Given the description of an element on the screen output the (x, y) to click on. 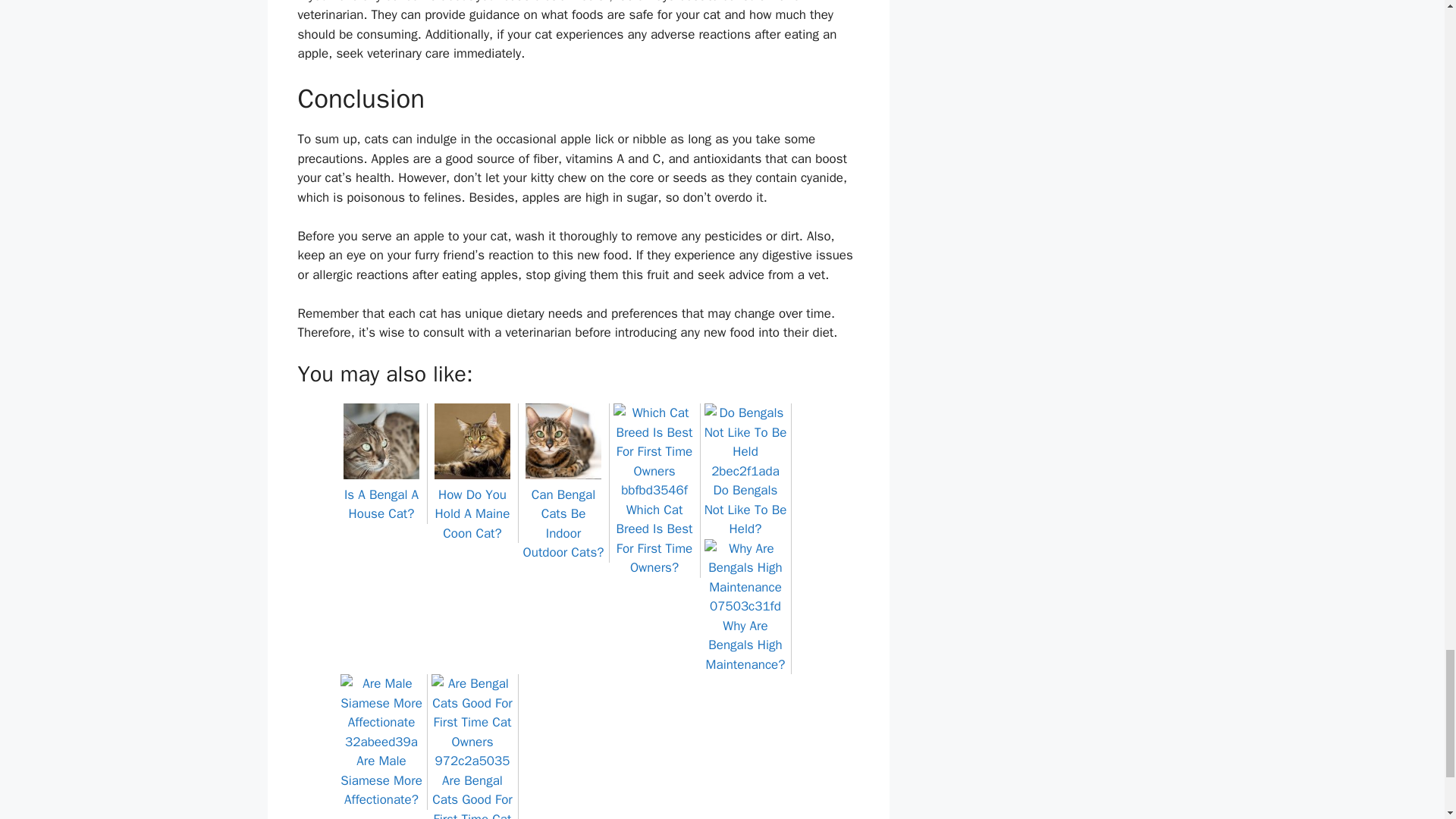
Is A Bengal A House Cat? 1 (381, 441)
How Do You Hold A Maine Coon Cat? (472, 503)
Why Are Bengals High Maintenance? (744, 635)
Is A Bengal A House Cat? (381, 493)
Do Bengals Not Like To Be Held? 5 (744, 441)
How Do You Hold A Maine Coon Cat? 2 (472, 441)
Why Are Bengals High Maintenance? 6 (744, 577)
Do Bengals Not Like To Be Held? (744, 500)
Are Male Siamese More Affectionate? (380, 770)
Are Bengal Cats Good For First Time Cat Owners? (471, 785)
